Given the description of an element on the screen output the (x, y) to click on. 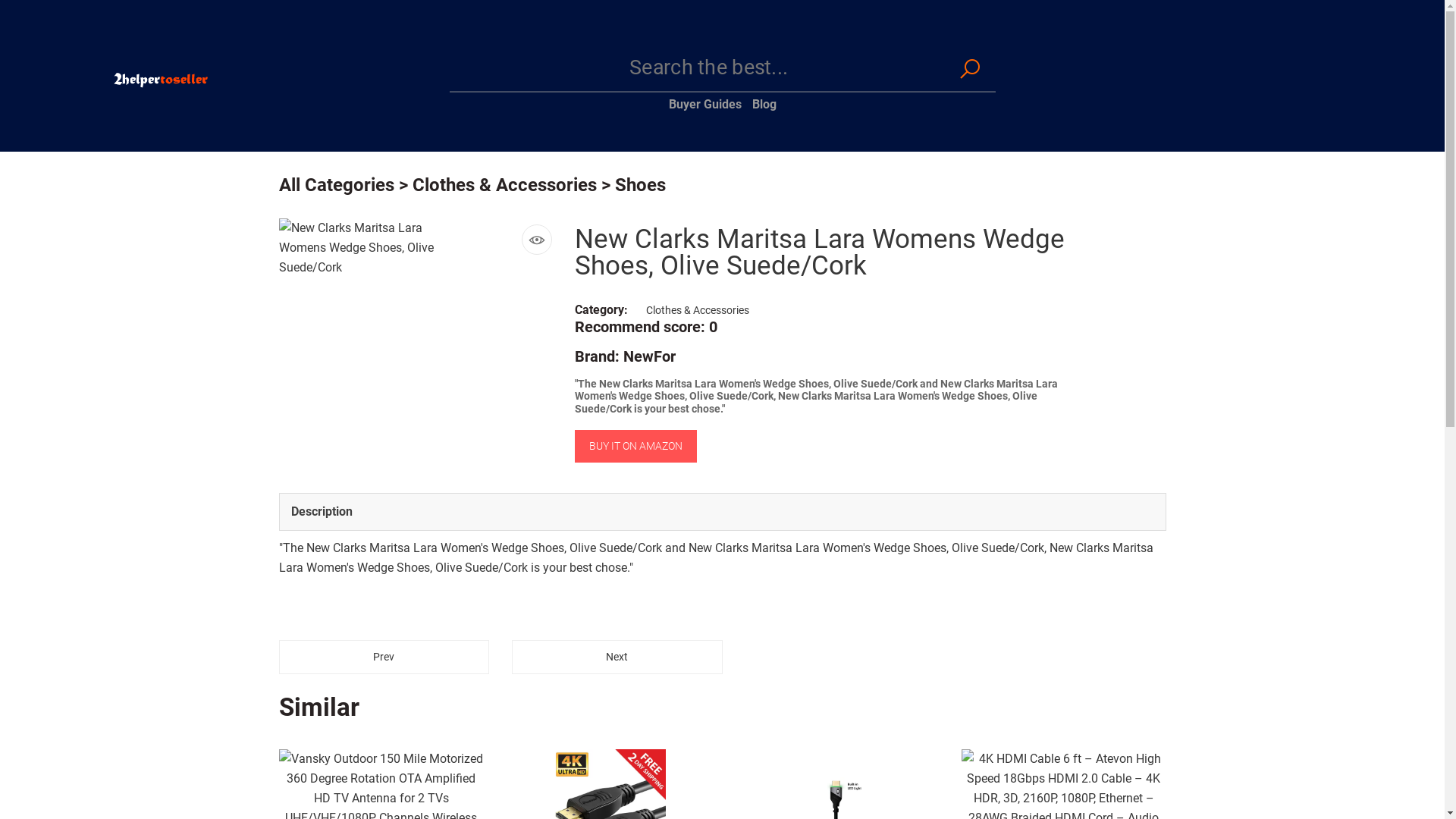
Prev Element type: text (384, 657)
All Categories Element type: text (336, 184)
Blog Element type: text (764, 104)
Buyer Guides Element type: text (704, 104)
Shoes Element type: text (639, 184)
Clothes & Accessories Element type: text (697, 310)
Next Element type: text (616, 657)
BUY IT ON AMAZON Element type: text (635, 445)
Clothes & Accessories Element type: text (504, 184)
